Given the description of an element on the screen output the (x, y) to click on. 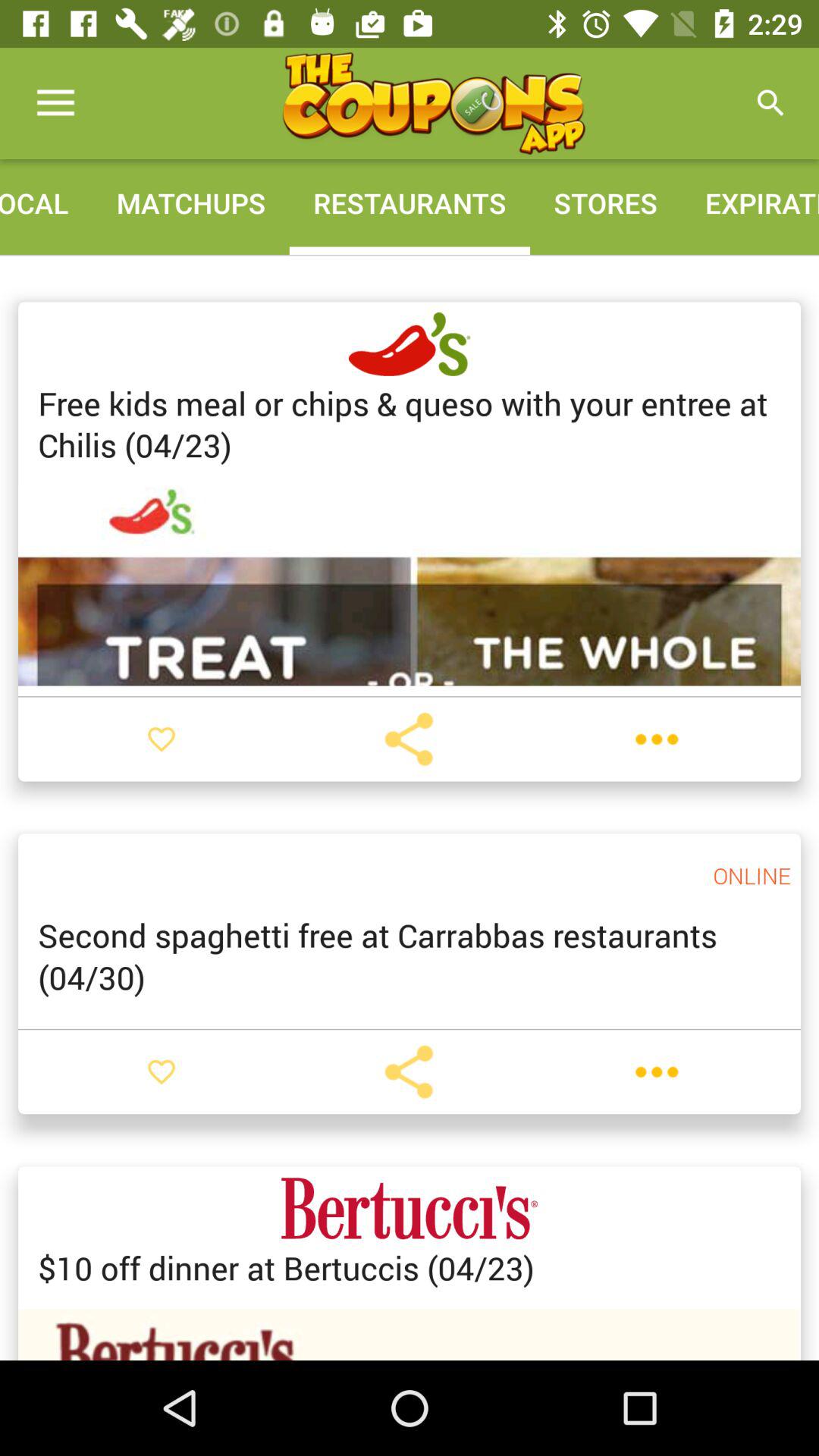
scroll to the second spaghetti free item (409, 955)
